Given the description of an element on the screen output the (x, y) to click on. 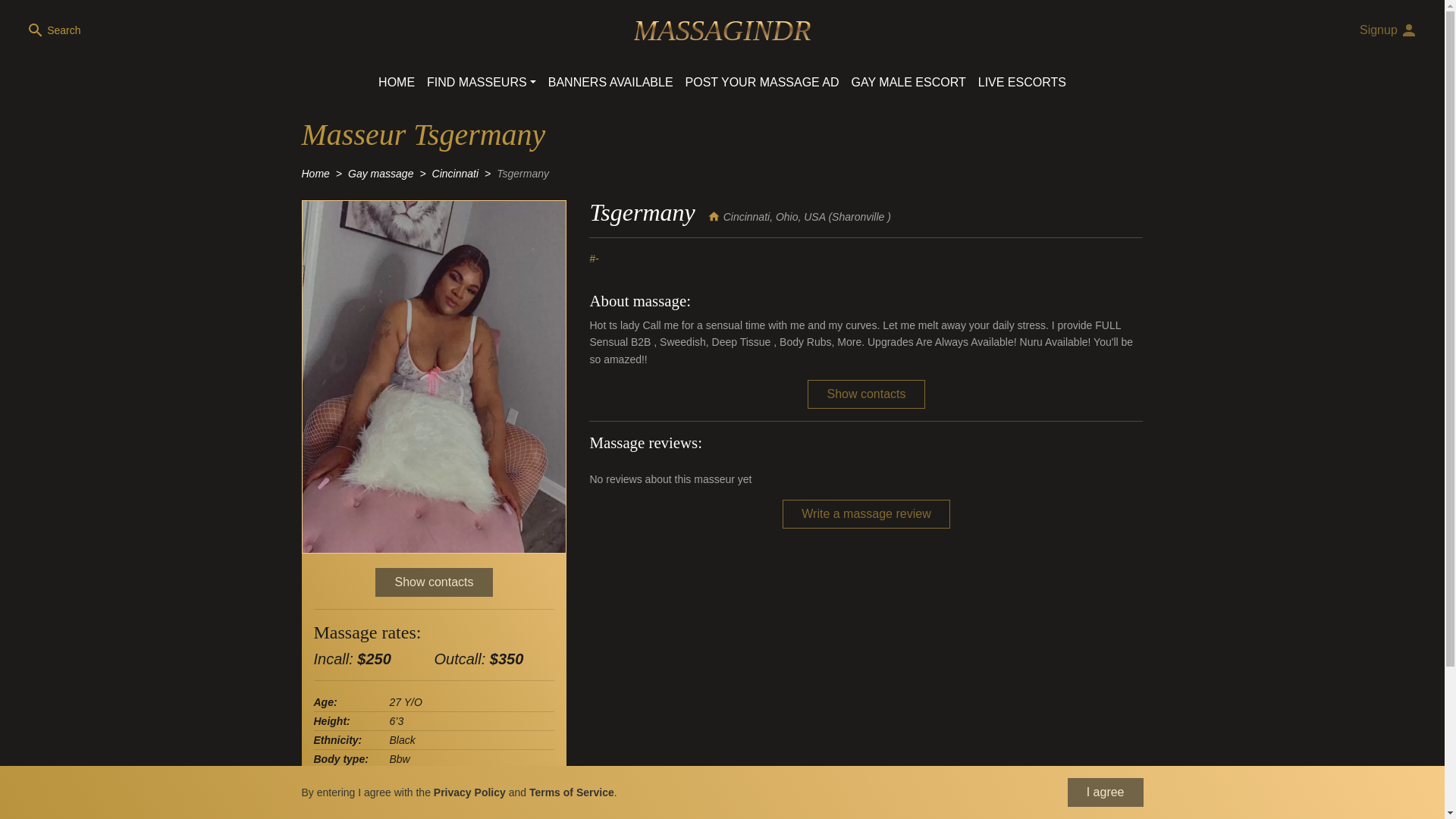
Cincinnati (455, 173)
POST YOUR MASSAGE AD (762, 82)
Gay massage (380, 173)
Write a massage review (866, 513)
HOME (396, 82)
Terms of Service (571, 792)
MASSAGINDR (721, 30)
Show contacts (433, 582)
Massagindr (721, 30)
Search (54, 29)
Show contacts (866, 394)
GAY MALE ESCORT (908, 82)
FIND MASSEURS (480, 82)
BANNERS AVAILABLE (610, 82)
Privacy Policy (469, 792)
